Given the description of an element on the screen output the (x, y) to click on. 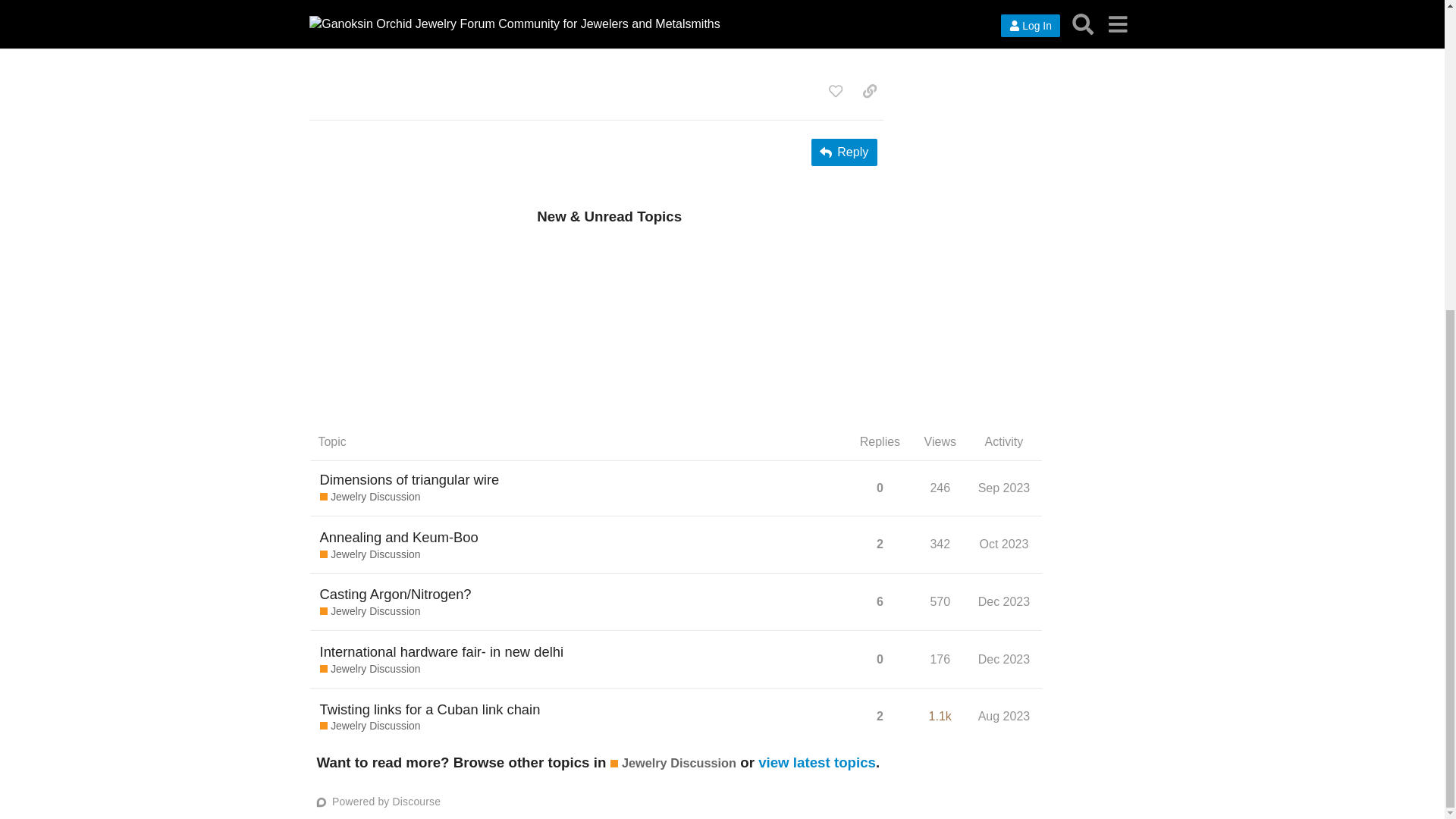
Jewelry Discussion (370, 669)
Jewelry Discussion (370, 554)
Annealing and Keum-Boo (399, 536)
International hardware fair- in new delhi (1005, 545)
Reply (441, 651)
Oct 2023 (843, 152)
Sep 2023 (1003, 543)
